Given the description of an element on the screen output the (x, y) to click on. 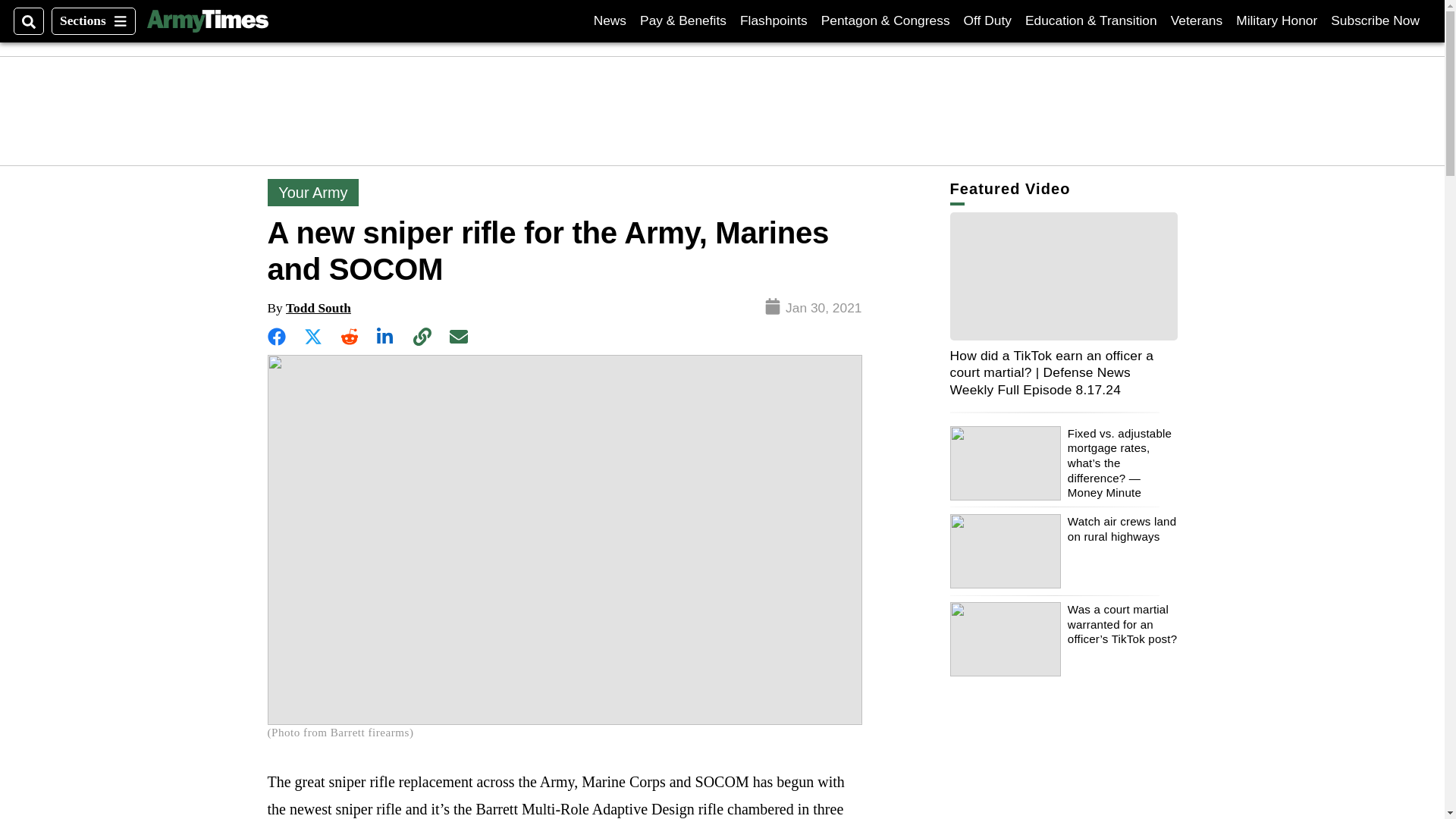
News (1374, 20)
Sections (610, 20)
Military Honor (92, 21)
Off Duty (1276, 20)
Army Times Logo (987, 20)
Flashpoints (207, 20)
Veterans (773, 20)
